Given the description of an element on the screen output the (x, y) to click on. 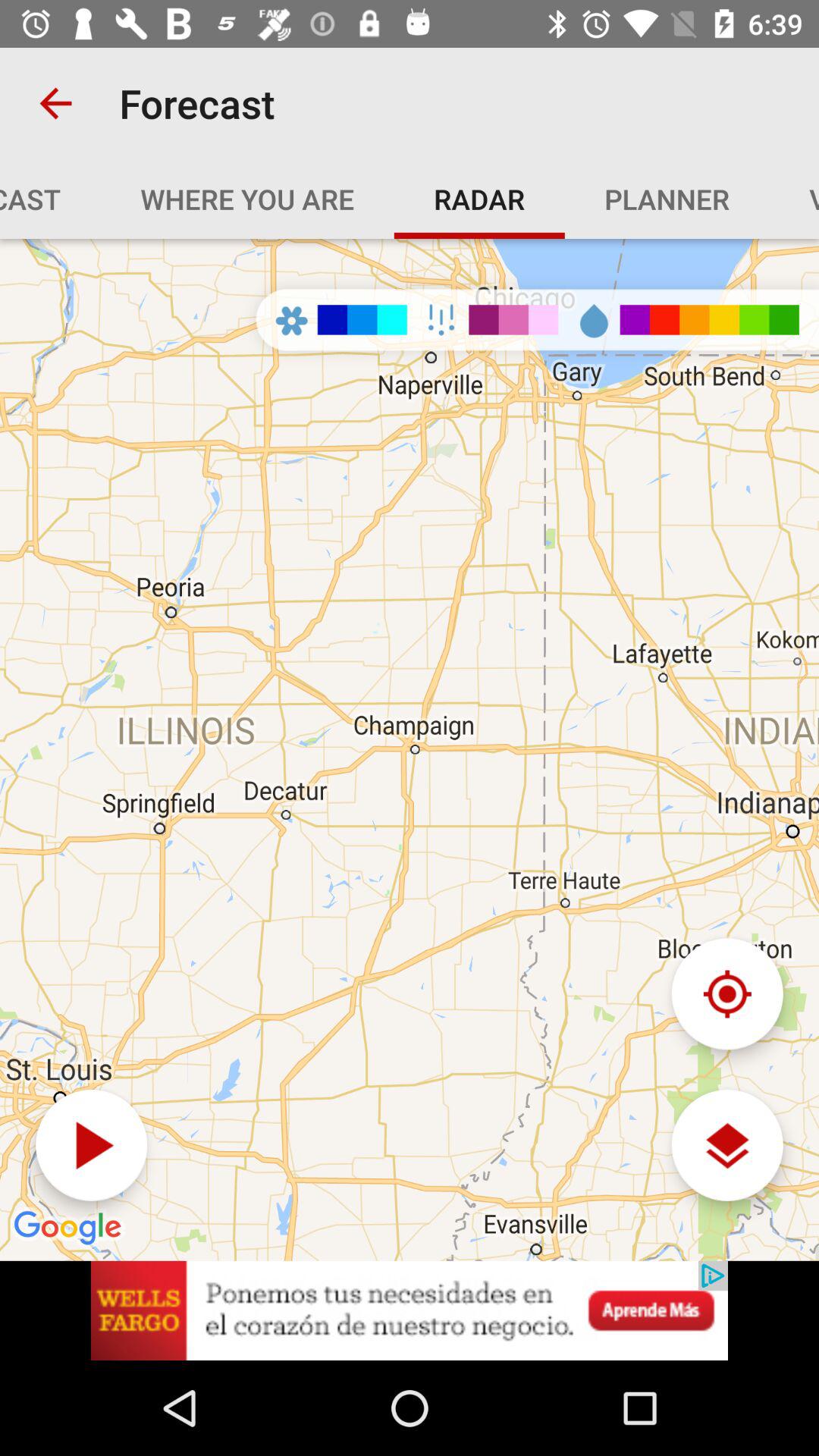
go to play option (91, 1145)
